Given the description of an element on the screen output the (x, y) to click on. 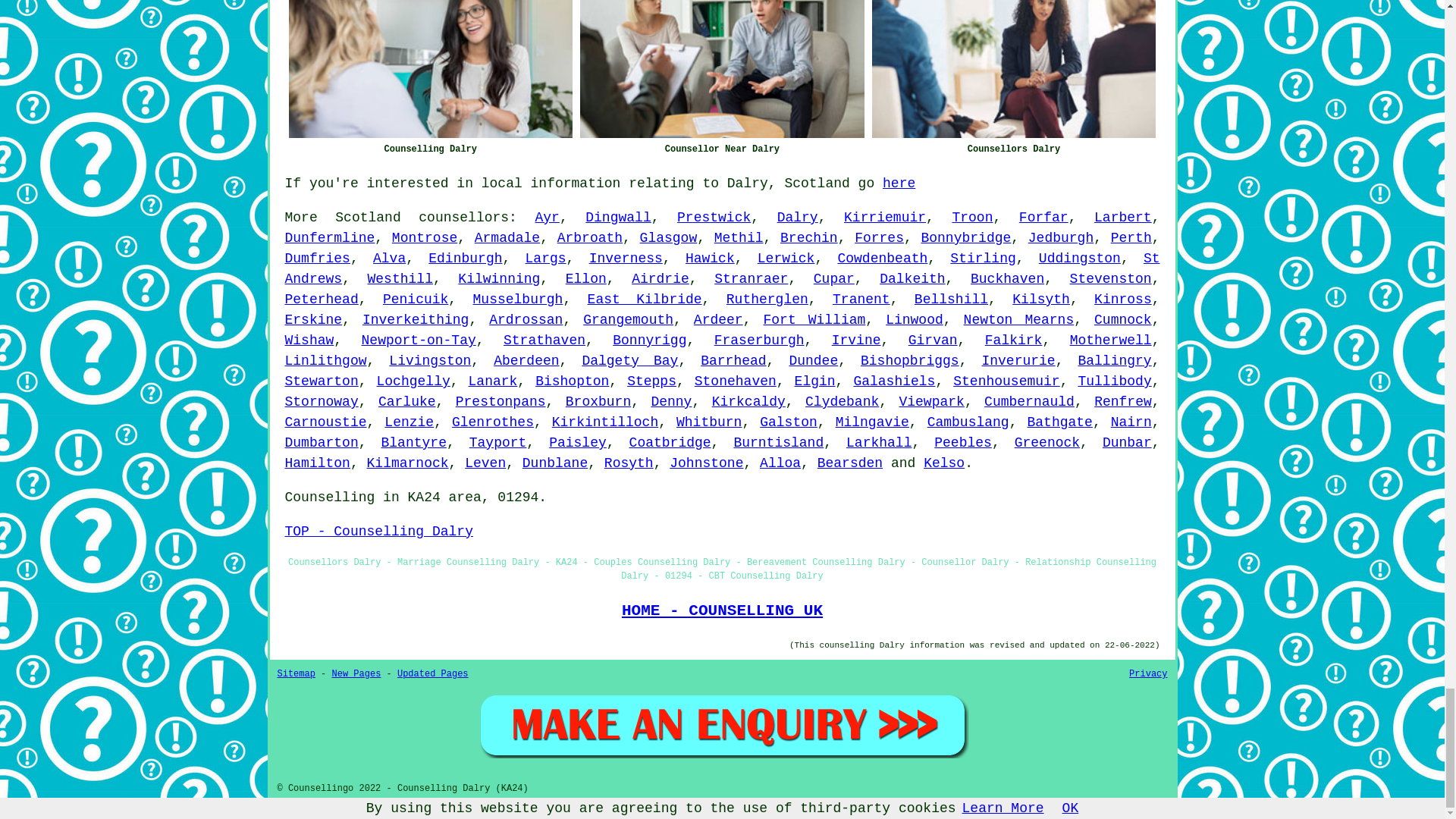
Counselling Dalry (430, 69)
Counsellor Near Me Dalry (721, 69)
ENQUIRE ABOUT COUNSELLING DALRY (722, 725)
Counsellors Dalry UK (1014, 69)
